Given the description of an element on the screen output the (x, y) to click on. 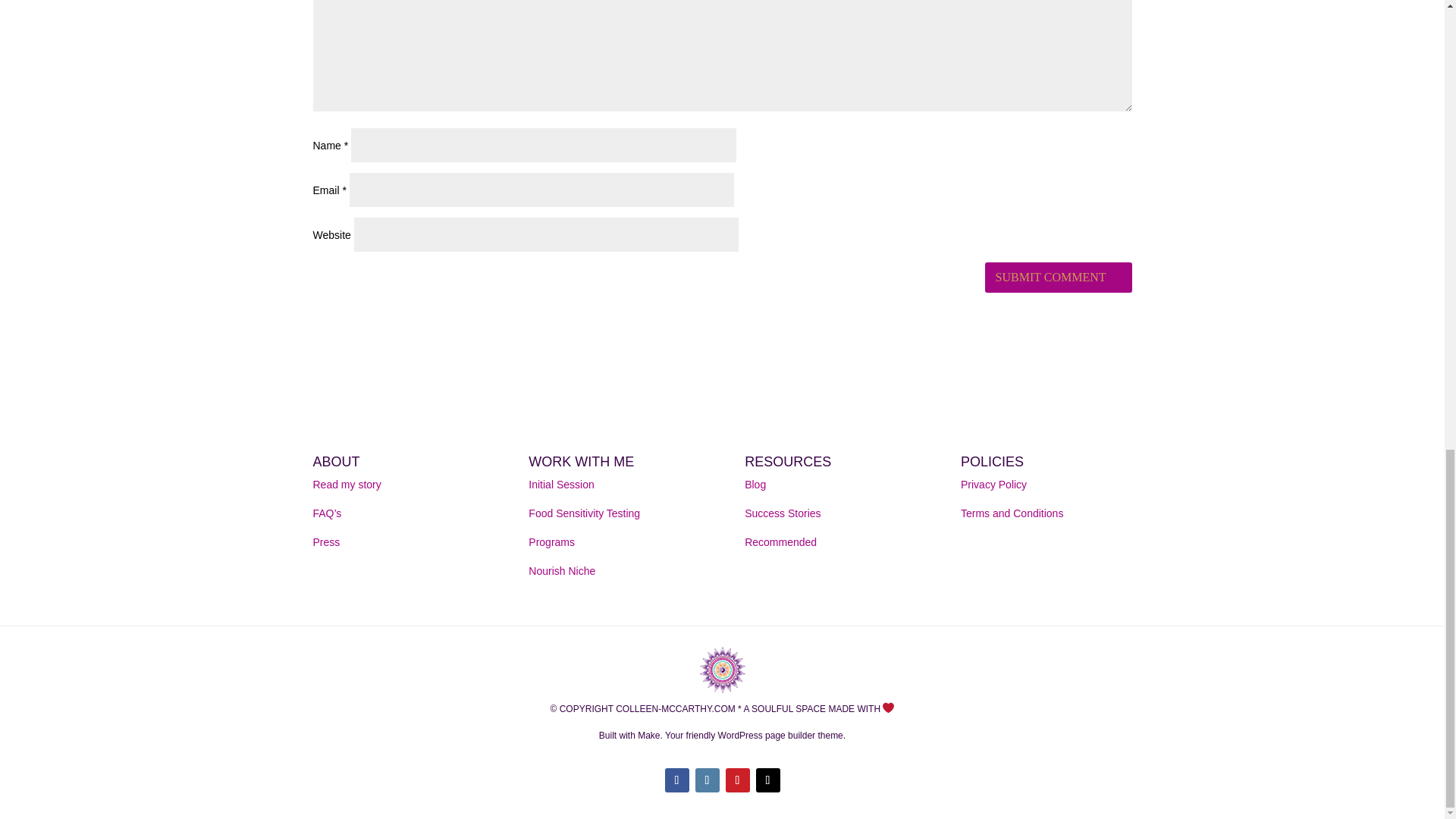
Submit Comment (1058, 277)
Submit Comment (1058, 277)
Follow on Pinterest (737, 780)
Follow on Facebook (675, 780)
Follow on Instagram (706, 780)
Follow on X (766, 780)
